Given the description of an element on the screen output the (x, y) to click on. 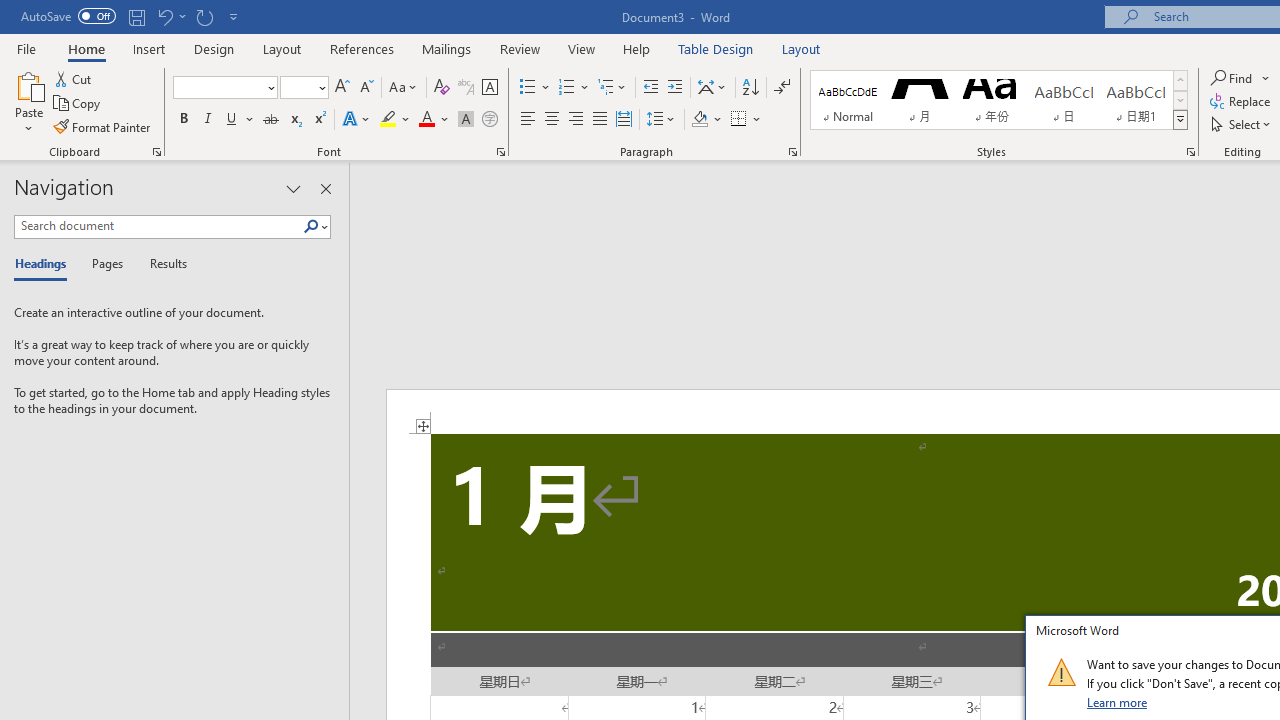
Grow Font (342, 87)
Help (637, 48)
Decrease Indent (650, 87)
Font (218, 87)
Class: NetUIImage (1061, 671)
Undo Shrink Font (170, 15)
Select (1242, 124)
Cut (73, 78)
Row up (1179, 79)
Format Painter (103, 126)
Increase Indent (675, 87)
Bullets (527, 87)
References (362, 48)
